Given the description of an element on the screen output the (x, y) to click on. 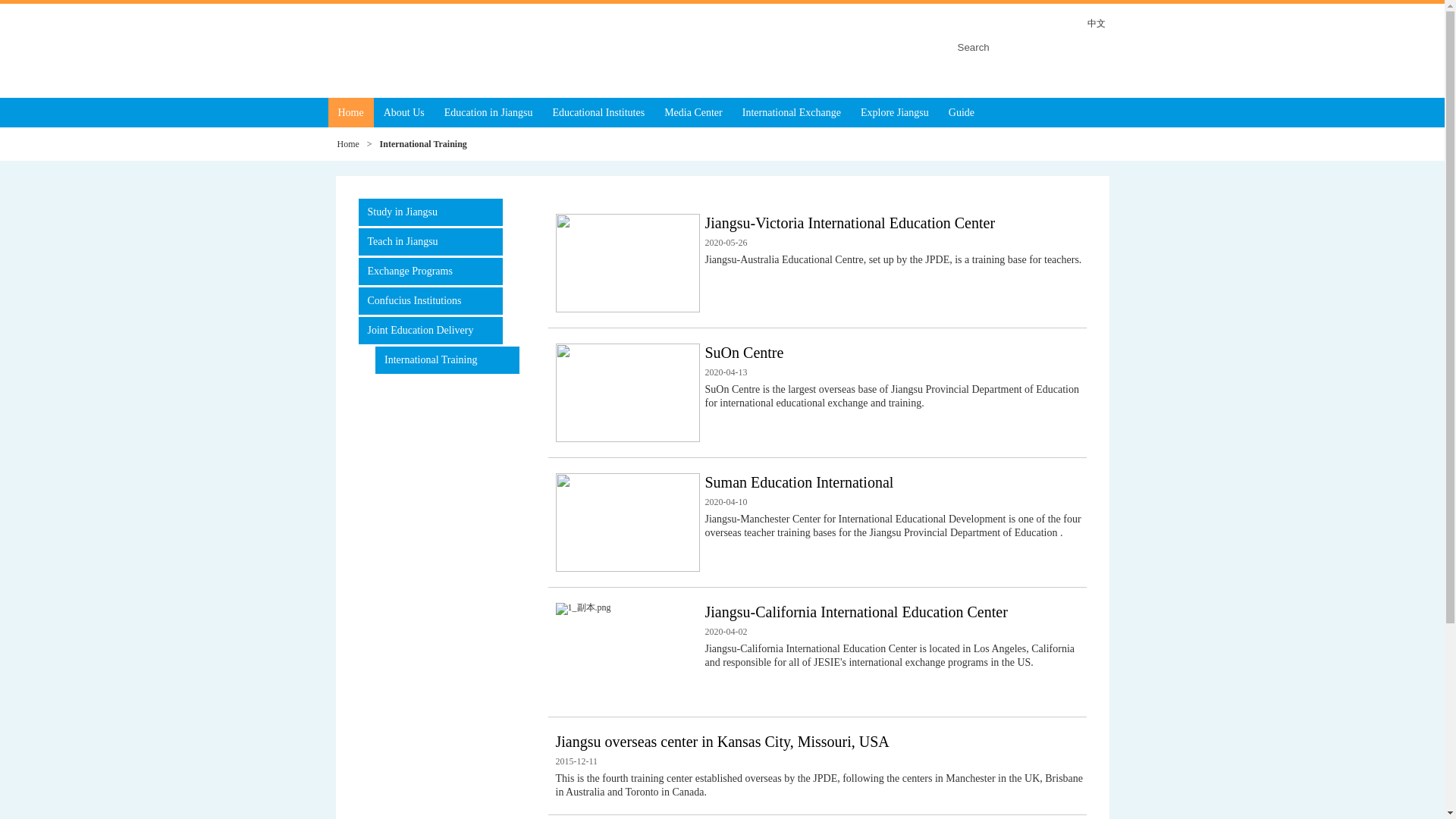
About Us (403, 112)
International Training (447, 359)
International Exchange (791, 112)
Study in Jiangsu (430, 212)
Home (349, 112)
Exchange Programs (430, 271)
Home (347, 143)
Media Center (692, 112)
Educational Institutes (597, 112)
Education in Jiangsu (488, 112)
Joint Education Delivery (430, 329)
Guide (961, 112)
Search (1029, 47)
Teach in Jiangsu (430, 241)
Confucius Institutions (430, 300)
